Given the description of an element on the screen output the (x, y) to click on. 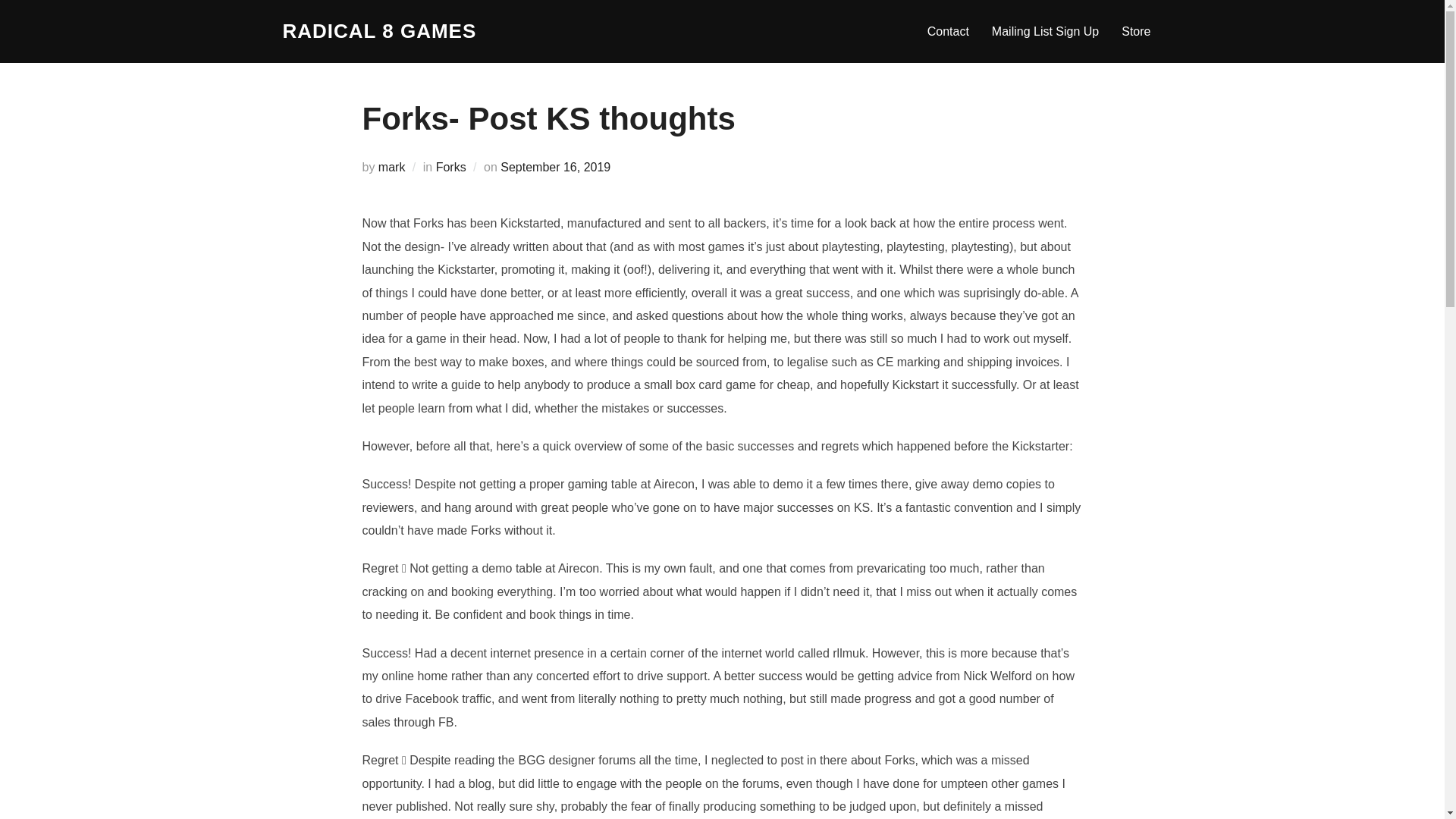
RADICAL 8 GAMES (379, 31)
September 16, 2019 (555, 166)
Forks (450, 166)
Mailing List Sign Up (1045, 30)
York based independent games design and publishing (379, 31)
Store (1135, 30)
mark (392, 166)
Contact (948, 30)
